Given the description of an element on the screen output the (x, y) to click on. 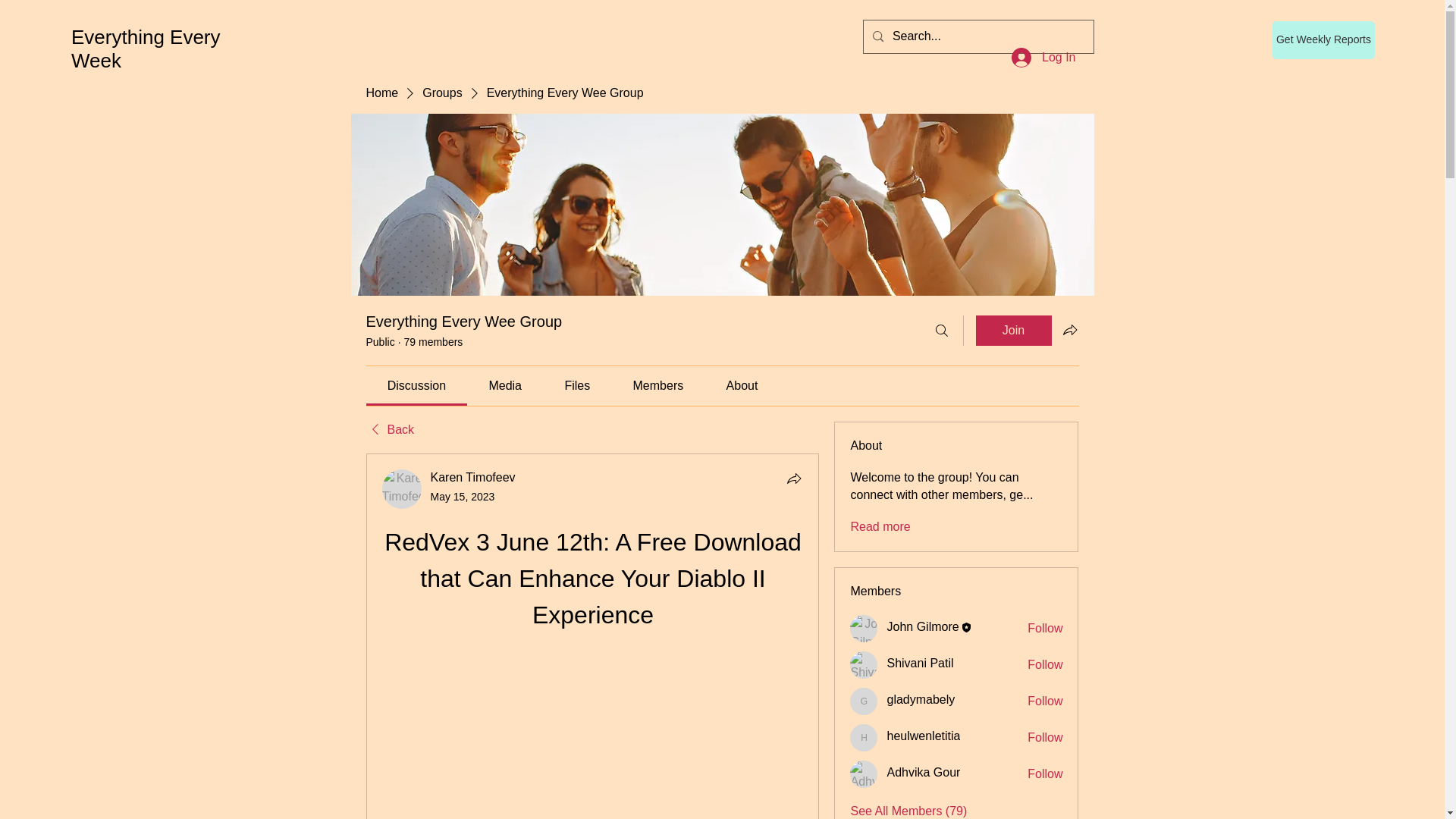
Karen Timofeev (472, 477)
gladymabely (863, 700)
Join (1013, 330)
heulwenletitia (922, 735)
Follow (1044, 737)
gladymabely (920, 698)
Groups (441, 93)
Follow (1044, 664)
Follow (1044, 628)
Everything Every Week (146, 48)
May 15, 2023 (462, 496)
Karen Timofeev (401, 488)
Shivani Patil (919, 662)
Adhvika Gour (863, 773)
John Gilmore (863, 628)
